Given the description of an element on the screen output the (x, y) to click on. 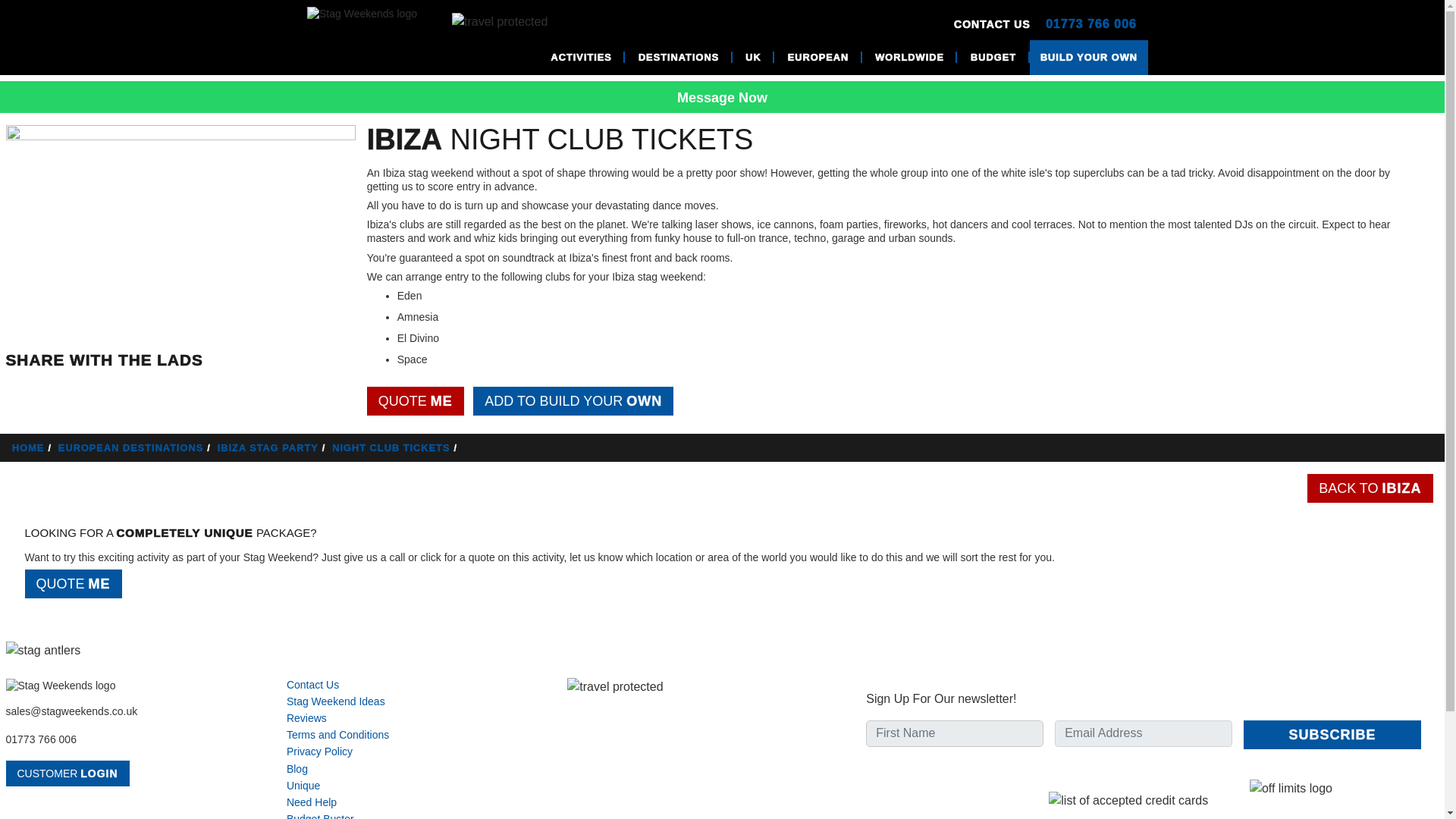
Terms and Conditions (337, 734)
IBIZA STAG PARTY (273, 447)
Privacy Policy (319, 751)
SUBSCRIBE (1332, 734)
BUILD YOUR OWN (1088, 58)
BACK TO IBIZA (1369, 488)
Reviews (306, 717)
NIGHT CLUB TICKETS (396, 447)
Blog (296, 768)
01773 766 006 (41, 739)
